Given the description of an element on the screen output the (x, y) to click on. 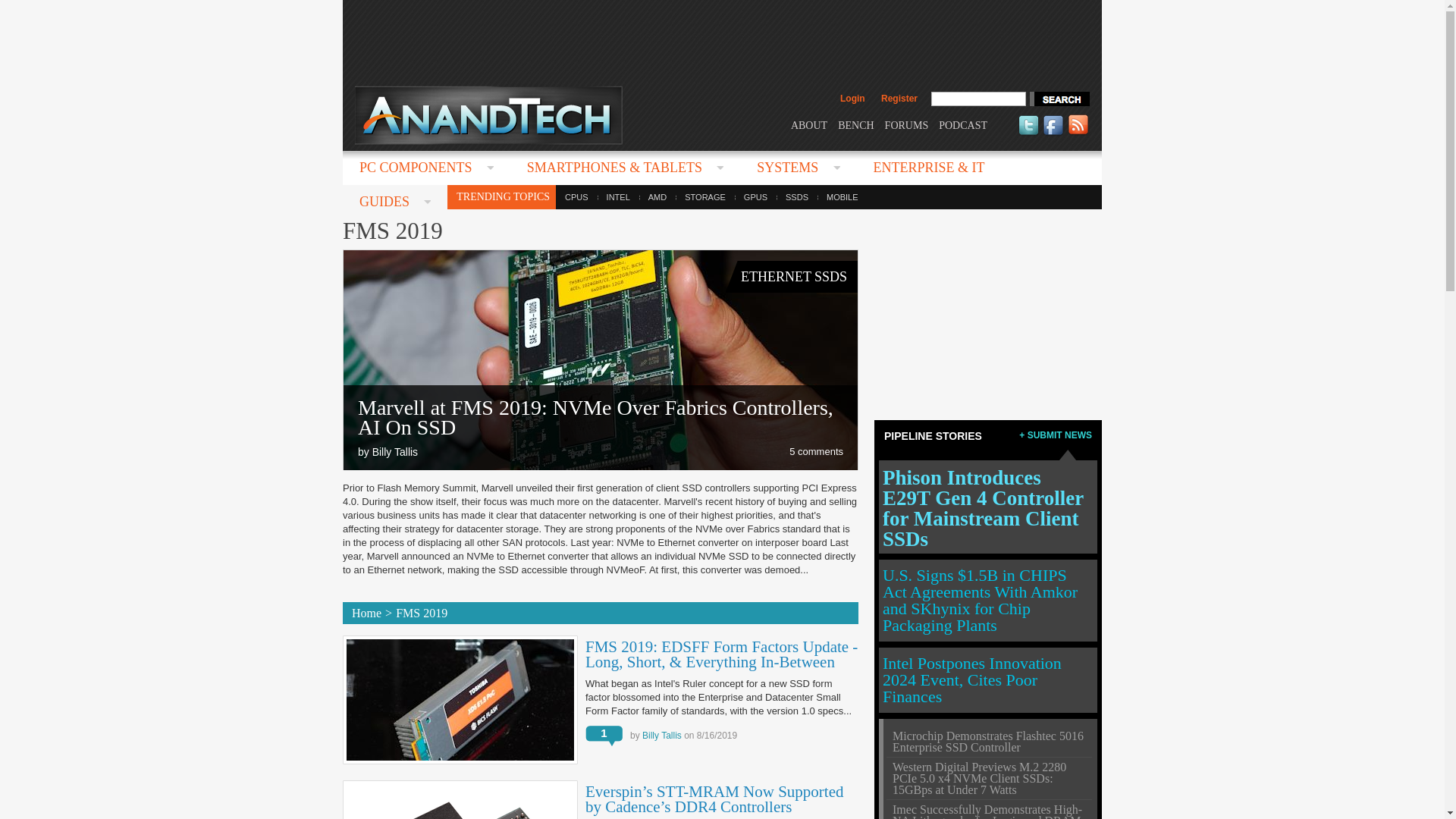
search (1059, 98)
ABOUT (808, 125)
search (1059, 98)
Login (852, 98)
BENCH (855, 125)
PODCAST (963, 125)
Register (898, 98)
FORUMS (906, 125)
search (1059, 98)
